Given the description of an element on the screen output the (x, y) to click on. 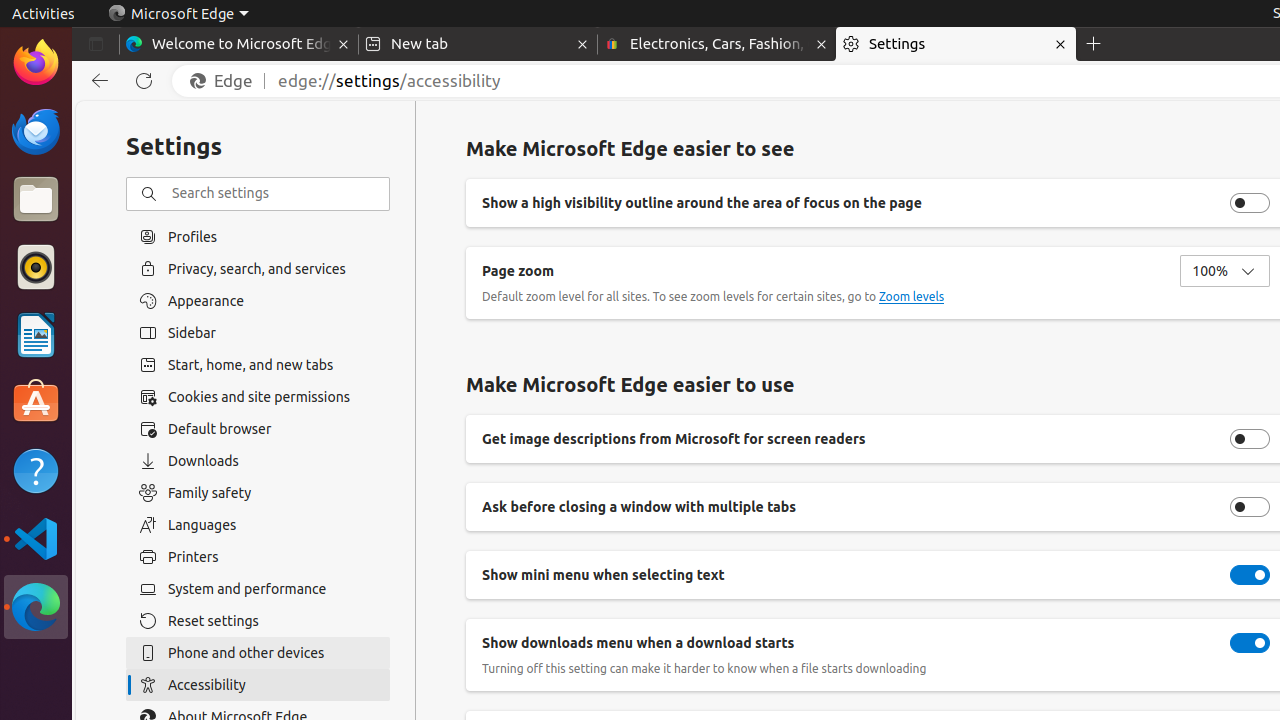
Tab actions menu Element type: push-button (96, 44)
Show downloads menu when a download starts Element type: check-box (1250, 643)
Cookies and site permissions Element type: tree-item (258, 397)
Firefox Web Browser Element type: push-button (36, 63)
Close tab Element type: push-button (343, 44)
